Given the description of an element on the screen output the (x, y) to click on. 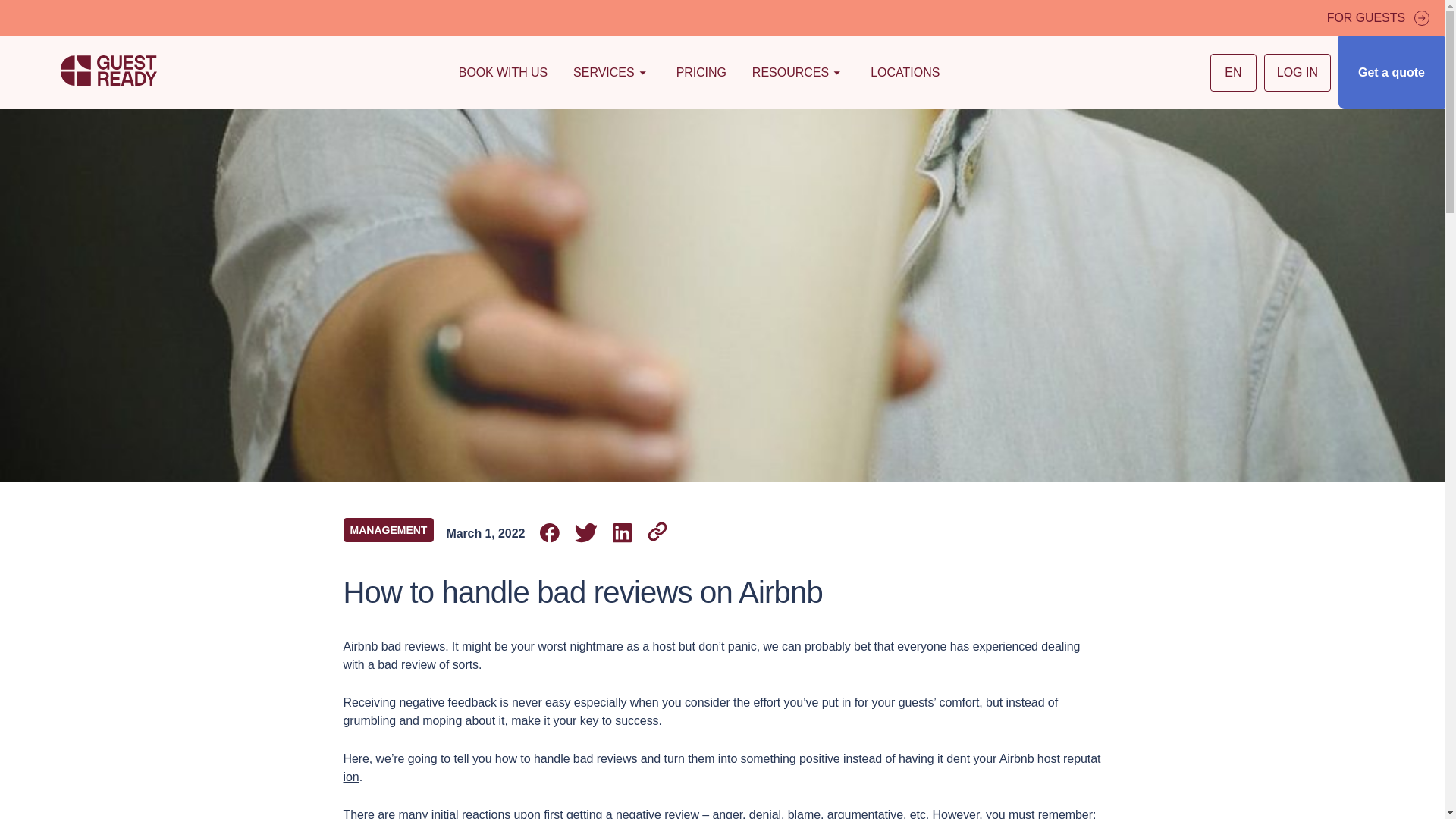
SERVICES (611, 72)
Share on LinkedIn (621, 534)
FOR GUESTS (1377, 17)
LOCATIONS (905, 72)
RESOURCES (797, 72)
LOG IN (1296, 72)
PRICING (700, 72)
Share to facebook (549, 534)
MANAGEMENT (387, 529)
Share to twitter (585, 534)
BOOK WITH US (502, 72)
EN (1232, 72)
Airbnb host reputation (721, 767)
